Given the description of an element on the screen output the (x, y) to click on. 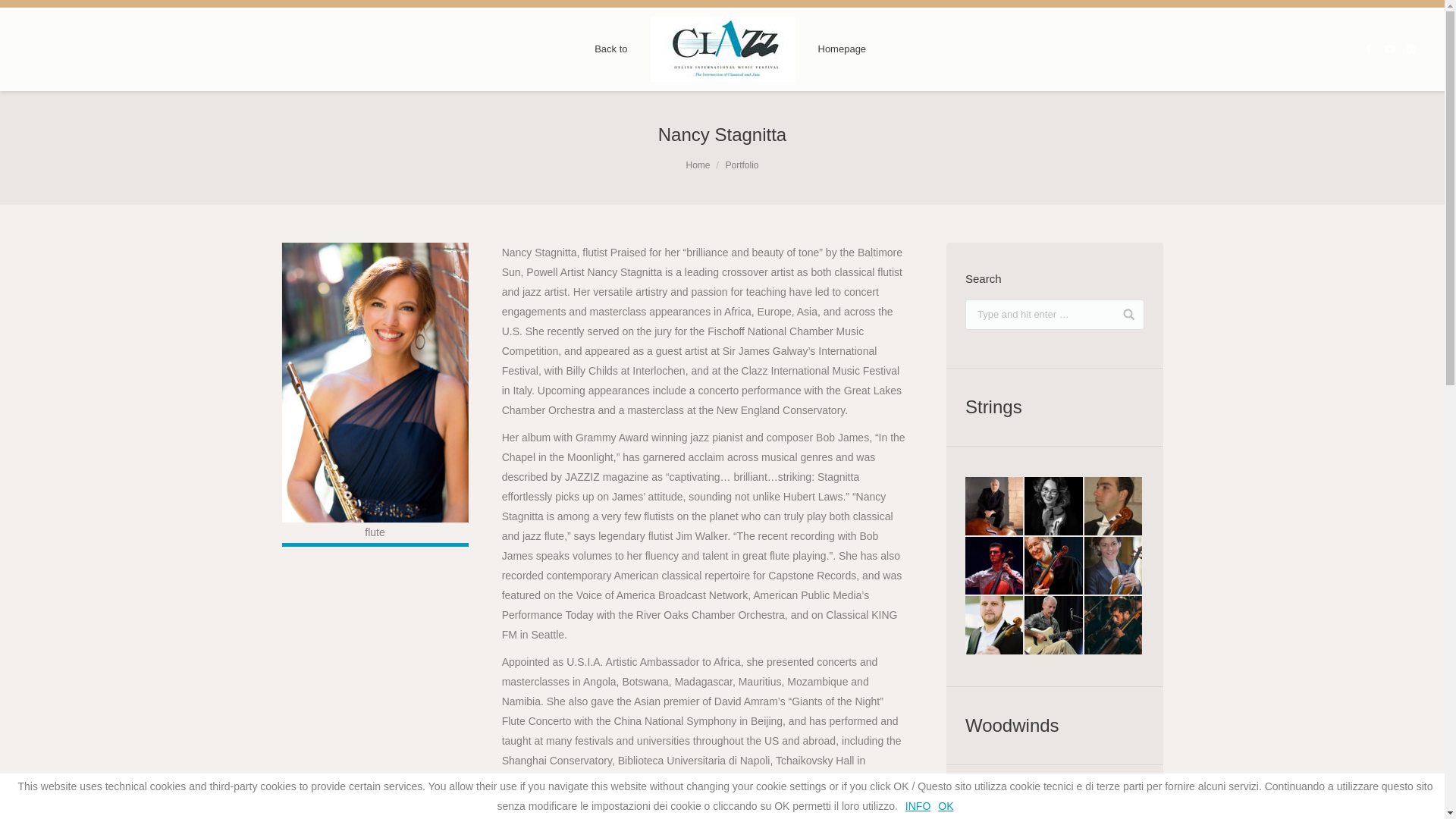
Facebook (1368, 49)
Go! (18, 15)
Elijah Lacin (995, 567)
Home (697, 164)
Go! (1123, 305)
Boris Tonkov (1114, 506)
Annette-Barbara Vogel (1054, 506)
Go! (1123, 305)
Instagram (1411, 49)
Portfolio (741, 164)
